Given the description of an element on the screen output the (x, y) to click on. 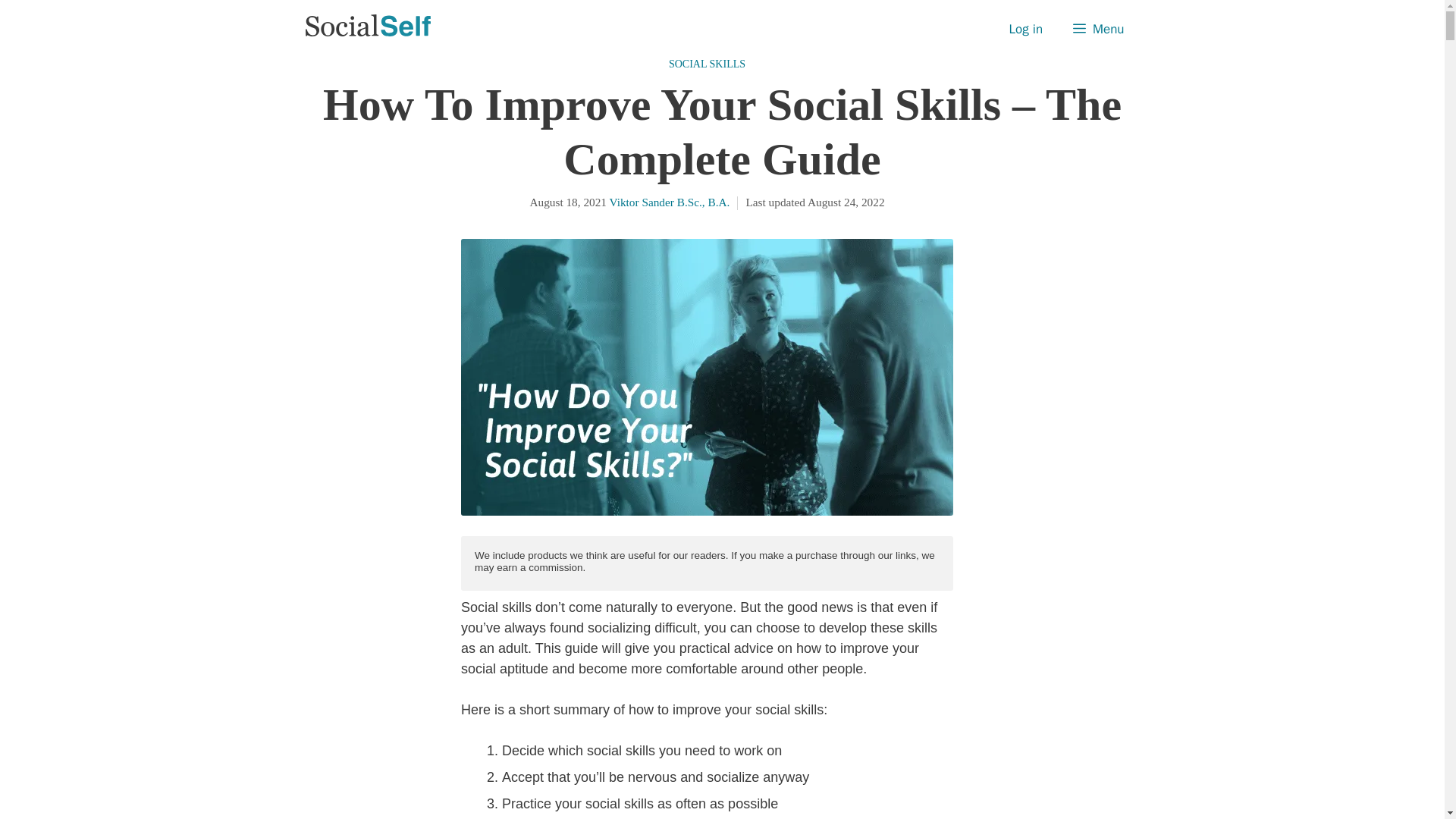
Go to the Social Skills category archives. (706, 63)
Menu (1098, 29)
Log in (1026, 29)
Viktor Sander B.Sc., B.A. (670, 201)
Posts by Viktor Sander B.Sc., B.A. (670, 201)
SOCIAL SKILLS (706, 63)
